Given the description of an element on the screen output the (x, y) to click on. 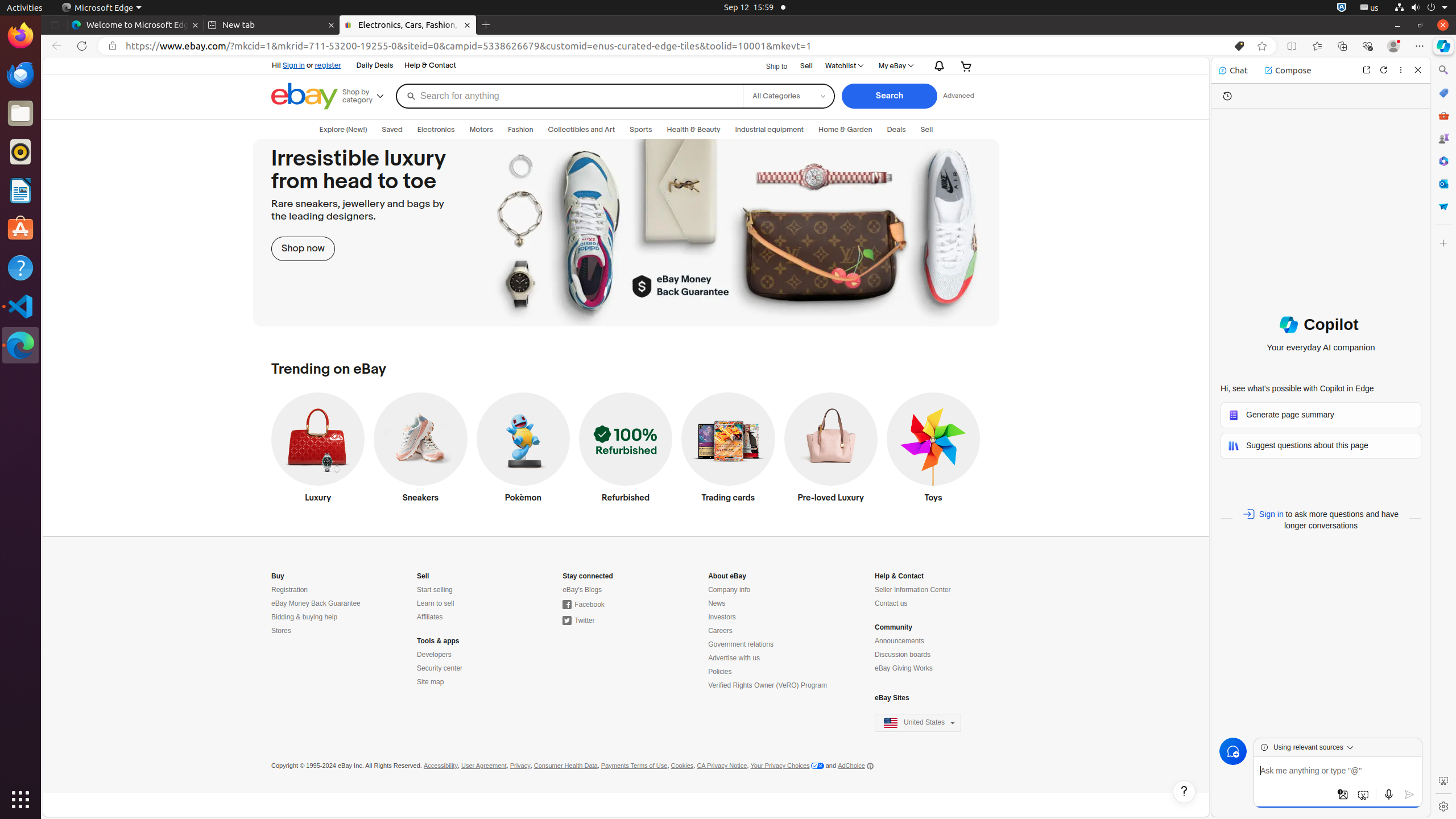
Pokèmon Element type: link (522, 450)
Start selling Element type: link (434, 589)
Using information from Relevant sources to answer. Select to change source Element type: push-button (1316, 747)
Rhythmbox Element type: push-button (20, 151)
This site has coupons! Shopping in Microsoft Edge Element type: push-button (1238, 46)
